Given the description of an element on the screen output the (x, y) to click on. 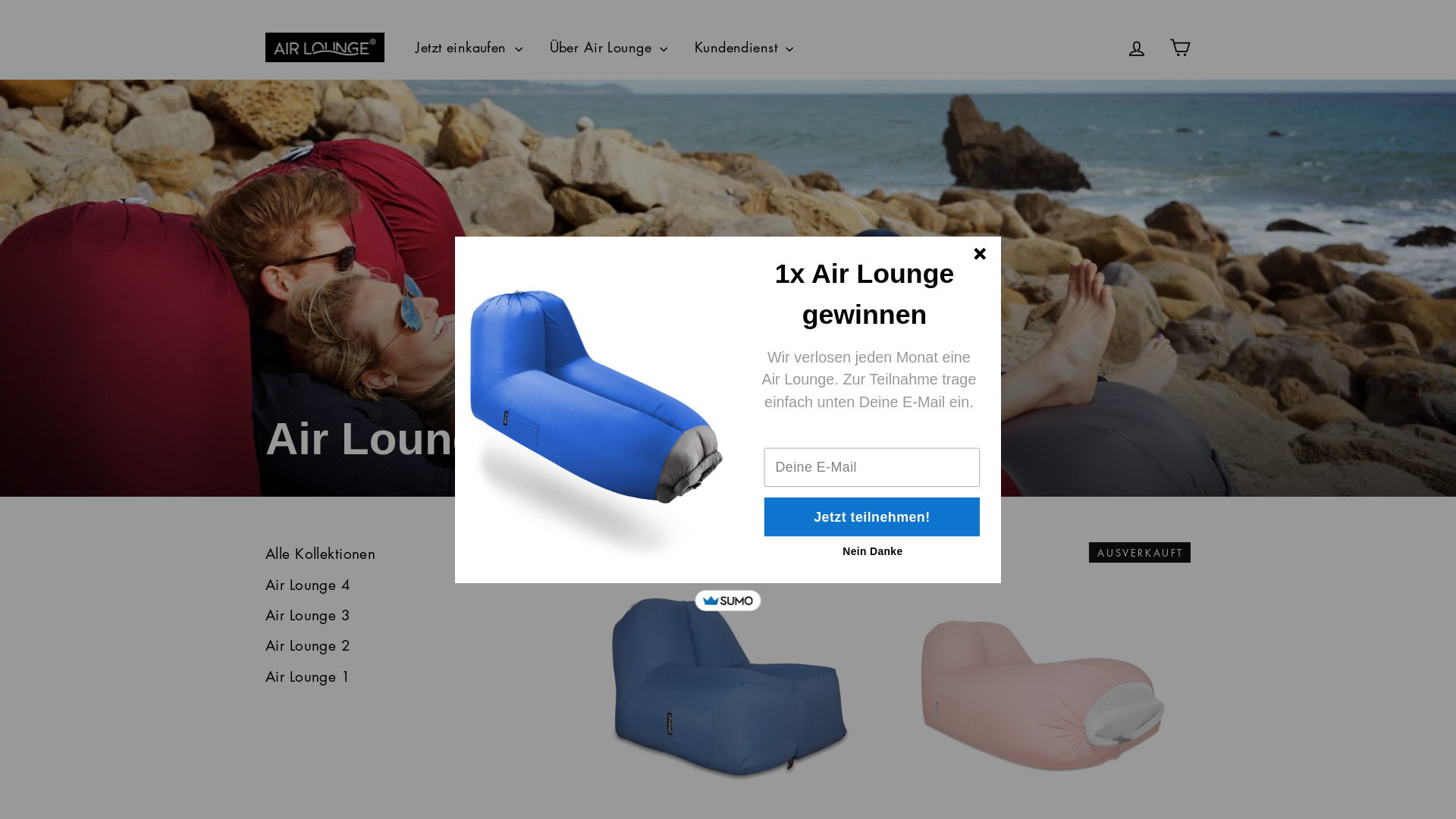
Kundendienst Element type: text (744, 47)
Jetzt teilnehmen! Element type: text (873, 516)
Air Lounge 3 Element type: text (307, 614)
Air Lounge 2 Element type: text (307, 644)
Air Lounge 4 Element type: text (307, 584)
Nein Danke Element type: text (873, 552)
Alle Kollektionen Element type: text (320, 552)
Air Lounge 1 Element type: text (307, 675)
Jetzt einkaufen Element type: text (468, 47)
Direkt zum Inhalt Element type: text (0, 0)
